Given the description of an element on the screen output the (x, y) to click on. 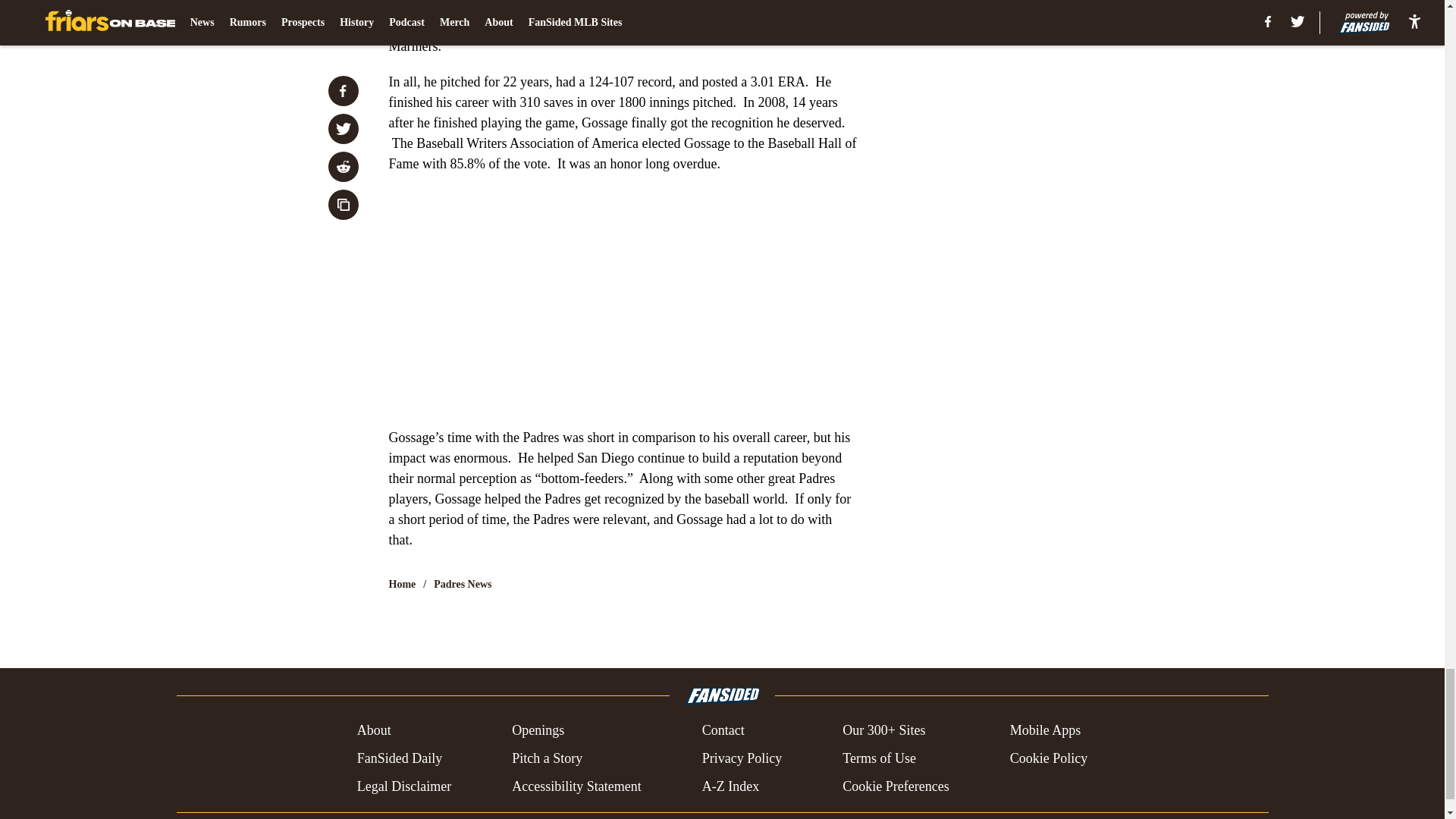
Accessibility Statement (576, 786)
Terms of Use (879, 758)
Mobile Apps (1045, 730)
Contact (722, 730)
Padres News (462, 584)
About (373, 730)
Openings (538, 730)
Legal Disclaimer (403, 786)
Privacy Policy (742, 758)
Cookie Policy (1048, 758)
